Given the description of an element on the screen output the (x, y) to click on. 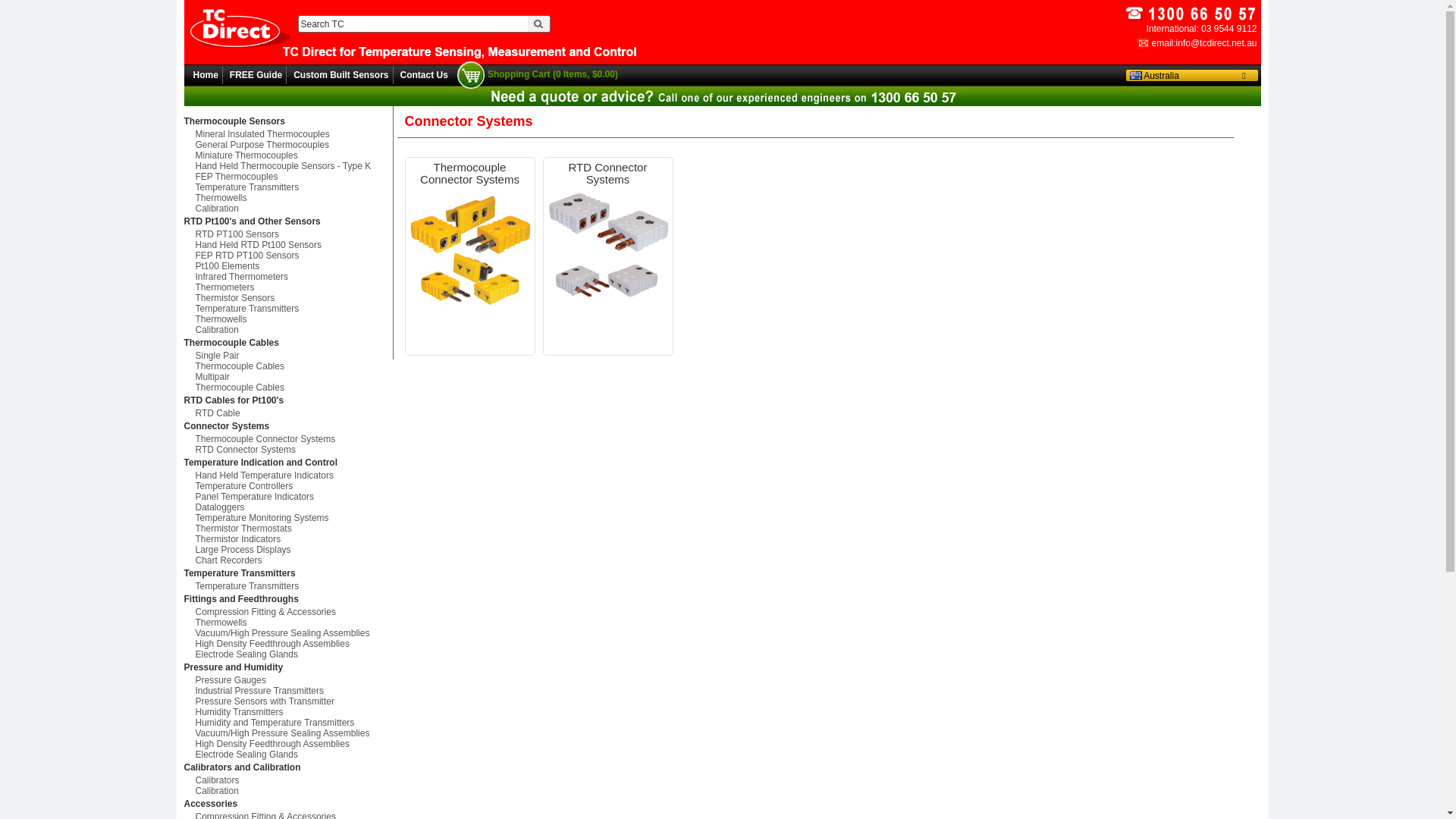
Temperature Transmitters Element type: text (288, 308)
RTD Connector Systems Element type: text (288, 449)
Calibration Element type: text (288, 790)
Electrode Sealing Glands Element type: text (288, 654)
Thermocouple Cables Element type: text (287, 342)
Thermowells Element type: text (288, 197)
FREE Guide Element type: text (255, 74)
Compression Fitting & Accessories Element type: text (288, 611)
RTD Pt100's and Other Sensors Element type: text (287, 221)
Thermistor Indicators Element type: text (288, 538)
Calibration Element type: text (288, 208)
Calibrators and Calibration Element type: text (287, 767)
Hand Held Thermocouple Sensors - Type K Element type: text (288, 165)
Pt100 Elements Element type: text (288, 265)
General Purpose Thermocouples Element type: text (288, 144)
Chart Recorders Element type: text (288, 560)
Fittings and Feedthroughs Element type: text (287, 598)
Large Process Displays Element type: text (288, 549)
High Density Feedthrough Assemblies Element type: text (288, 743)
Pressure Sensors with Transmitter Element type: text (288, 701)
RTD Cable Element type: text (288, 412)
Accessories Element type: text (287, 803)
FEP RTD PT100 Sensors Element type: text (288, 255)
Vacuum/High Pressure Sealing Assemblies Element type: text (288, 632)
RTD PT100 Sensors Element type: text (288, 234)
Thermocouple Sensors Element type: text (287, 120)
Temperature Indication and Control Element type: text (287, 462)
Thermocouple Connector Systems Element type: text (469, 173)
Dataloggers Element type: text (288, 507)
RTD Connector Systems Element type: text (607, 173)
Pressure Gauges Element type: text (288, 679)
Mineral Insulated Thermocouples Element type: text (288, 133)
Custom Built Sensors Element type: text (340, 74)
FEP Thermocouples Element type: text (288, 176)
Panel Temperature Indicators Element type: text (288, 496)
Miniature Thermocouples Element type: text (288, 155)
Vacuum/High Pressure Sealing Assemblies Element type: text (288, 733)
Temperature Monitoring Systems Element type: text (288, 517)
High Density Feedthrough Assemblies Element type: text (288, 643)
Thermistor Sensors Element type: text (288, 297)
Electrode Sealing Glands Element type: text (288, 754)
Calibration Element type: text (288, 329)
RTD Cables for Pt100's Element type: text (287, 399)
Temperature Transmitters Element type: text (288, 187)
Temperature Controllers Element type: text (288, 485)
Multipair
Thermocouple Cables Element type: text (288, 381)
Contact Us Element type: text (424, 74)
Hand Held Temperature Indicators Element type: text (288, 475)
Thermistor Thermostats Element type: text (288, 528)
Single Pair
Thermocouple Cables Element type: text (288, 360)
Pressure and Humidity Element type: text (287, 666)
Industrial Pressure Transmitters Element type: text (288, 690)
Humidity Transmitters Element type: text (288, 711)
email:info@tcdirect.net.au Element type: text (1196, 42)
Infrared Thermometers Element type: text (288, 276)
Temperature Transmitters Element type: text (287, 572)
Thermometers Element type: text (288, 287)
Home Element type: text (204, 74)
Shopping Cart (0 Items, $0.00) Element type: text (537, 74)
Thermowells Element type: text (288, 318)
Thermocouple Connector Systems Element type: text (288, 438)
Humidity and Temperature Transmitters Element type: text (288, 722)
Calibrators Element type: text (288, 780)
Thermowells Element type: text (288, 622)
Temperature Transmitters Element type: text (288, 585)
Hand Held RTD Pt100 Sensors Element type: text (288, 244)
Connector Systems Element type: text (287, 425)
